Given the description of an element on the screen output the (x, y) to click on. 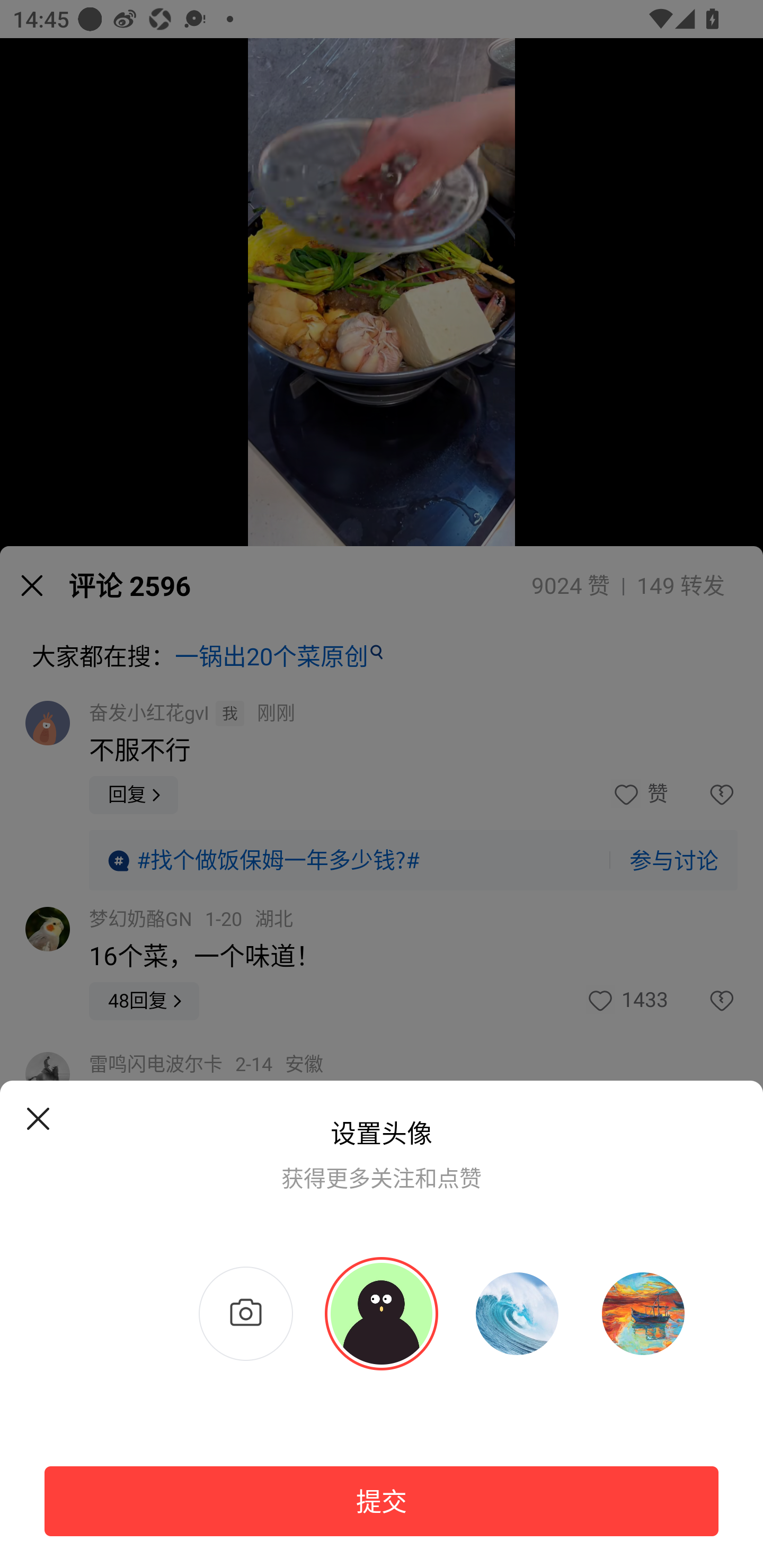
提交 (381, 1501)
